Given the description of an element on the screen output the (x, y) to click on. 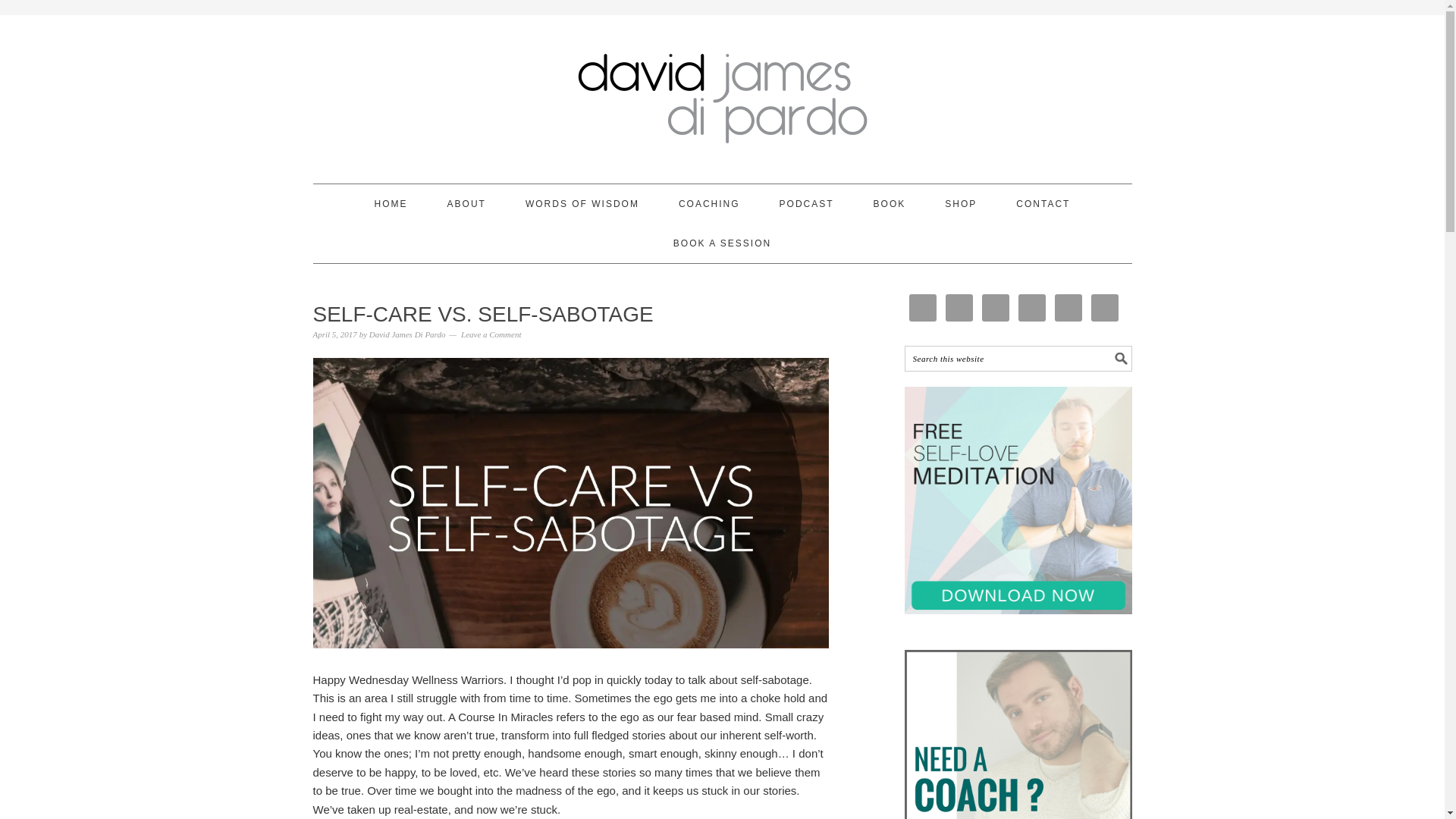
BOOK (889, 203)
BOOK A SESSION (721, 242)
PODCAST (806, 203)
David James Di Pardo (407, 334)
Leave a Comment (491, 334)
ABOUT (466, 203)
COACHING (708, 203)
CONTACT (1043, 203)
DAVID JAMES DI PARDO (722, 92)
HOME (390, 203)
WORDS OF WISDOM (582, 203)
SHOP (960, 203)
